Given the description of an element on the screen output the (x, y) to click on. 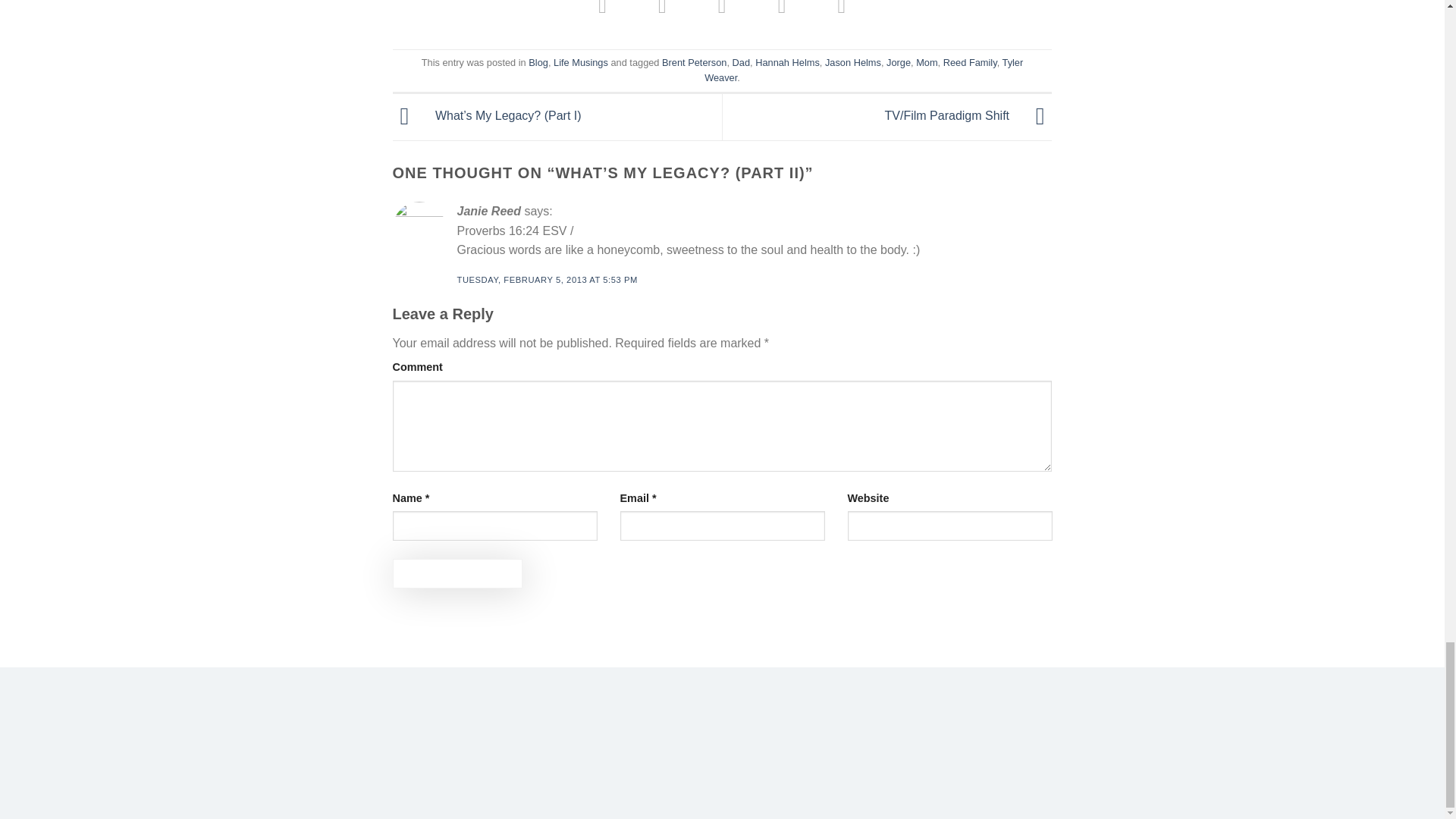
Reed Family (970, 61)
Post Comment (457, 573)
Hannah Helms (787, 61)
Tyler Weaver (863, 69)
Jason Helms (852, 61)
Life Musings (580, 61)
Mom (926, 61)
Brent Peterson (694, 61)
Blog (538, 61)
Jorge (898, 61)
Dad (740, 61)
